Given the description of an element on the screen output the (x, y) to click on. 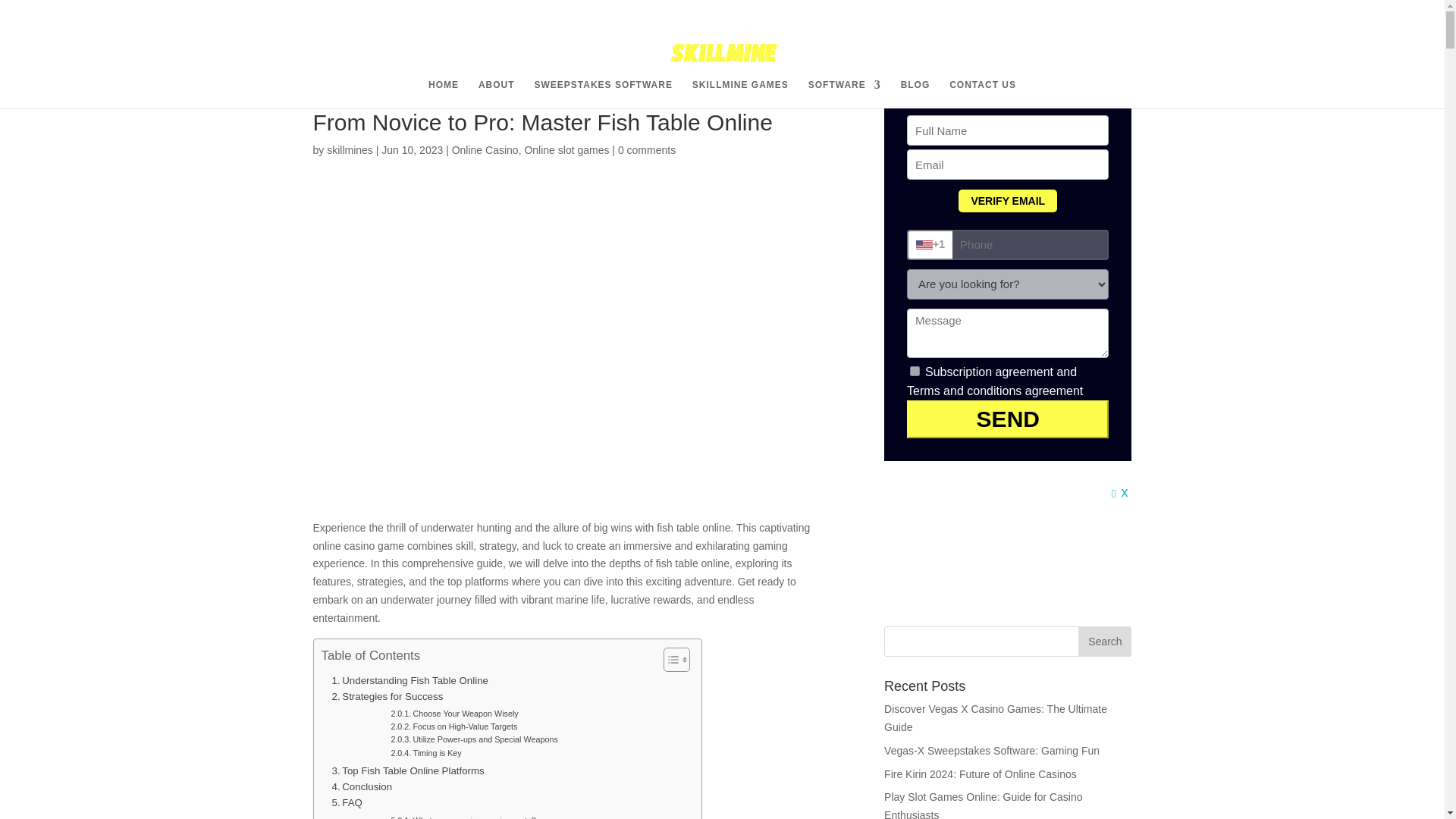
CONTACT US (982, 93)
Focus on High-Value Targets (453, 726)
Terms and conditions (964, 390)
skillmines (349, 150)
Online slot games (566, 150)
0 comments (646, 150)
Top Fish Table Online Platforms (407, 770)
Focus on High-Value Targets (453, 726)
Utilize Power-ups and Special Weapons (473, 739)
FAQ (346, 802)
